Given the description of an element on the screen output the (x, y) to click on. 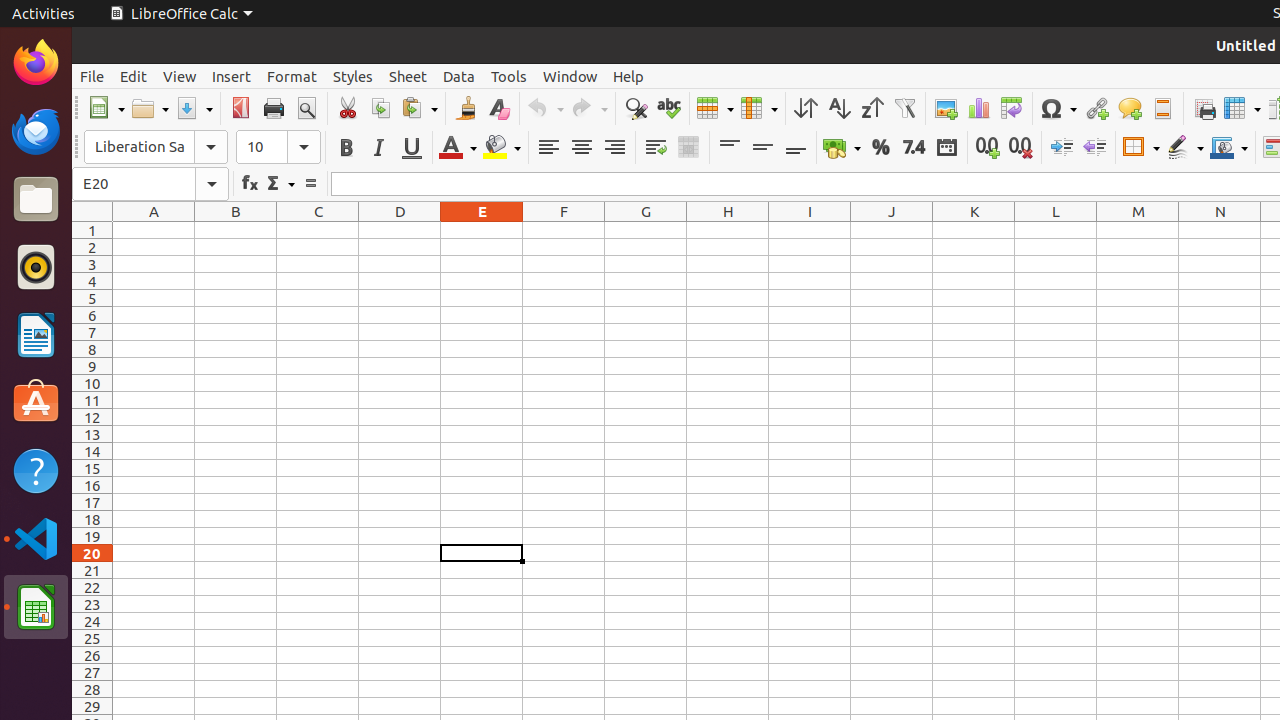
Bold Element type: toggle-button (345, 147)
Background Color Element type: push-button (502, 147)
Sort Ascending Element type: push-button (838, 108)
Print Element type: push-button (273, 108)
Cut Element type: push-button (347, 108)
